Given the description of an element on the screen output the (x, y) to click on. 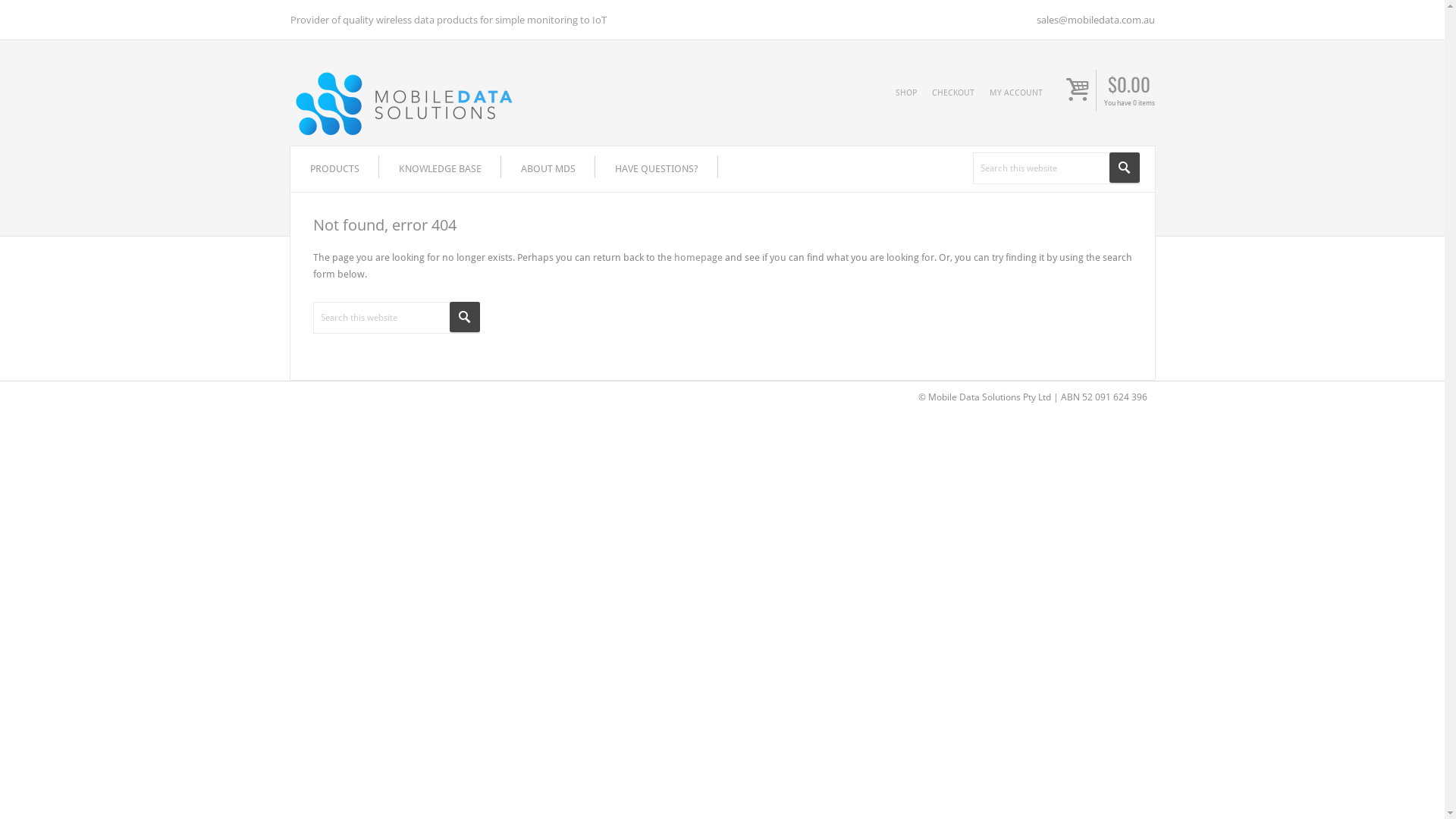
homepage Element type: text (697, 257)
$0.00 Element type: text (1128, 86)
i Element type: text (1077, 91)
Search Element type: text (1123, 167)
ABOUT MDS Element type: text (547, 168)
sales@mobiledata.com.au Element type: text (1094, 19)
MOBILE DATA SOLUTIONS Element type: text (419, 105)
PRODUCTS Element type: text (333, 168)
SHOP Element type: text (905, 92)
Search Element type: text (463, 316)
MY ACCOUNT Element type: text (1015, 92)
CHECKOUT Element type: text (952, 92)
KNOWLEDGE BASE Element type: text (440, 168)
HAVE QUESTIONS? Element type: text (655, 168)
